Given the description of an element on the screen output the (x, y) to click on. 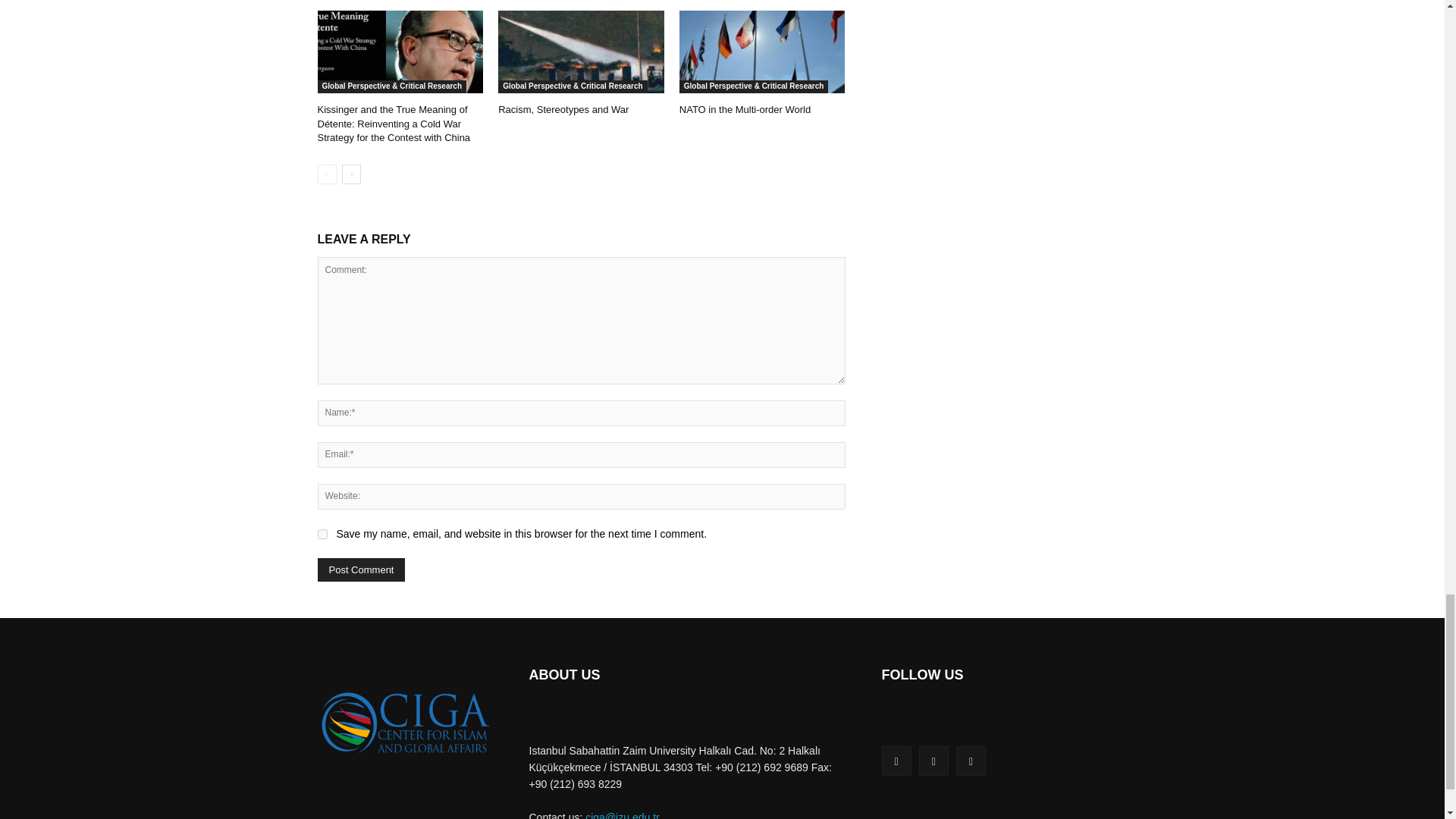
yes (321, 533)
Post Comment (360, 569)
